Given the description of an element on the screen output the (x, y) to click on. 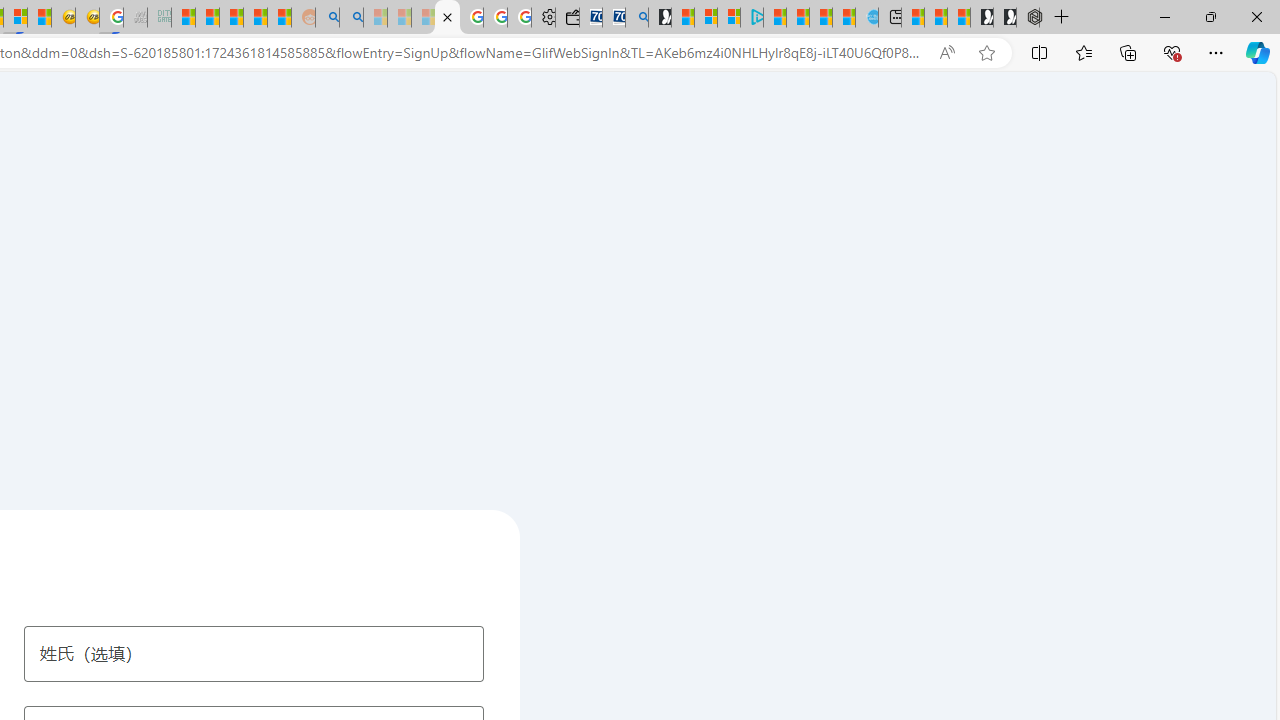
Bing Real Estate - Home sales and rental listings (636, 17)
